Given the description of an element on the screen output the (x, y) to click on. 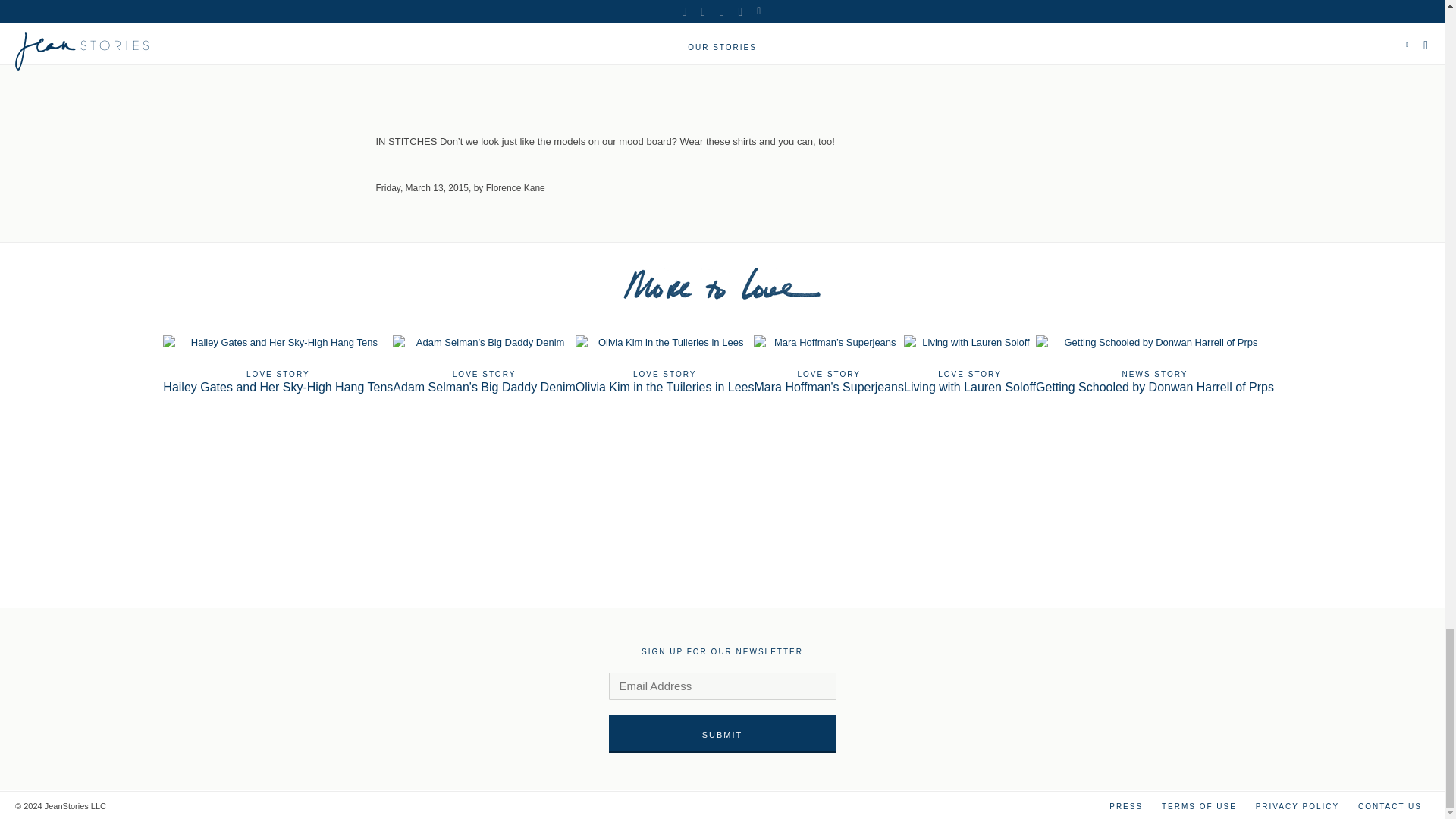
SUBMIT (1154, 363)
